Given the description of an element on the screen output the (x, y) to click on. 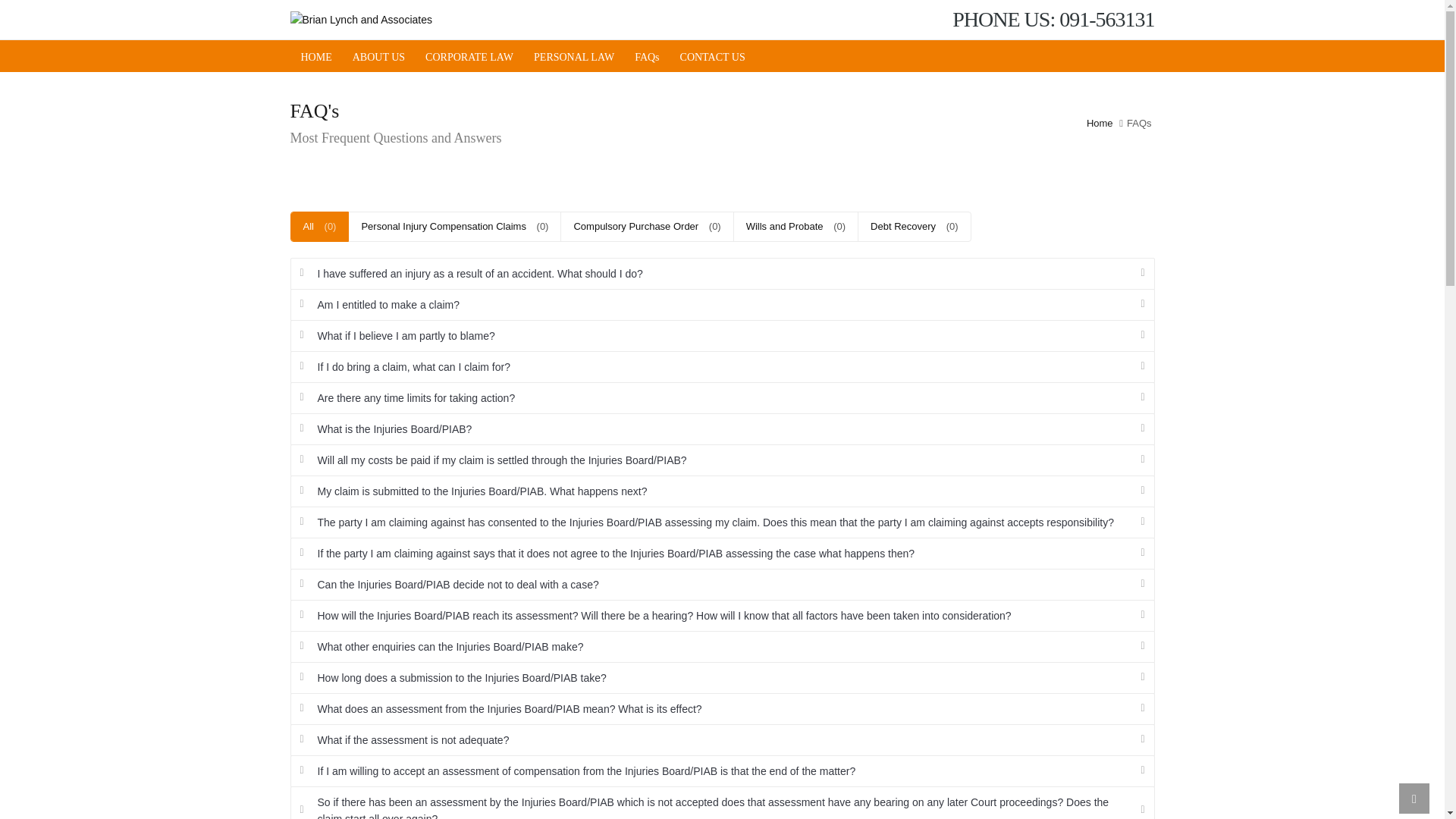
Home (1099, 122)
CORPORATE LAW (469, 56)
PERSONAL LAW (573, 56)
CONTACT US (712, 56)
HOME (315, 56)
FAQs (646, 56)
ABOUT US (378, 56)
